Given the description of an element on the screen output the (x, y) to click on. 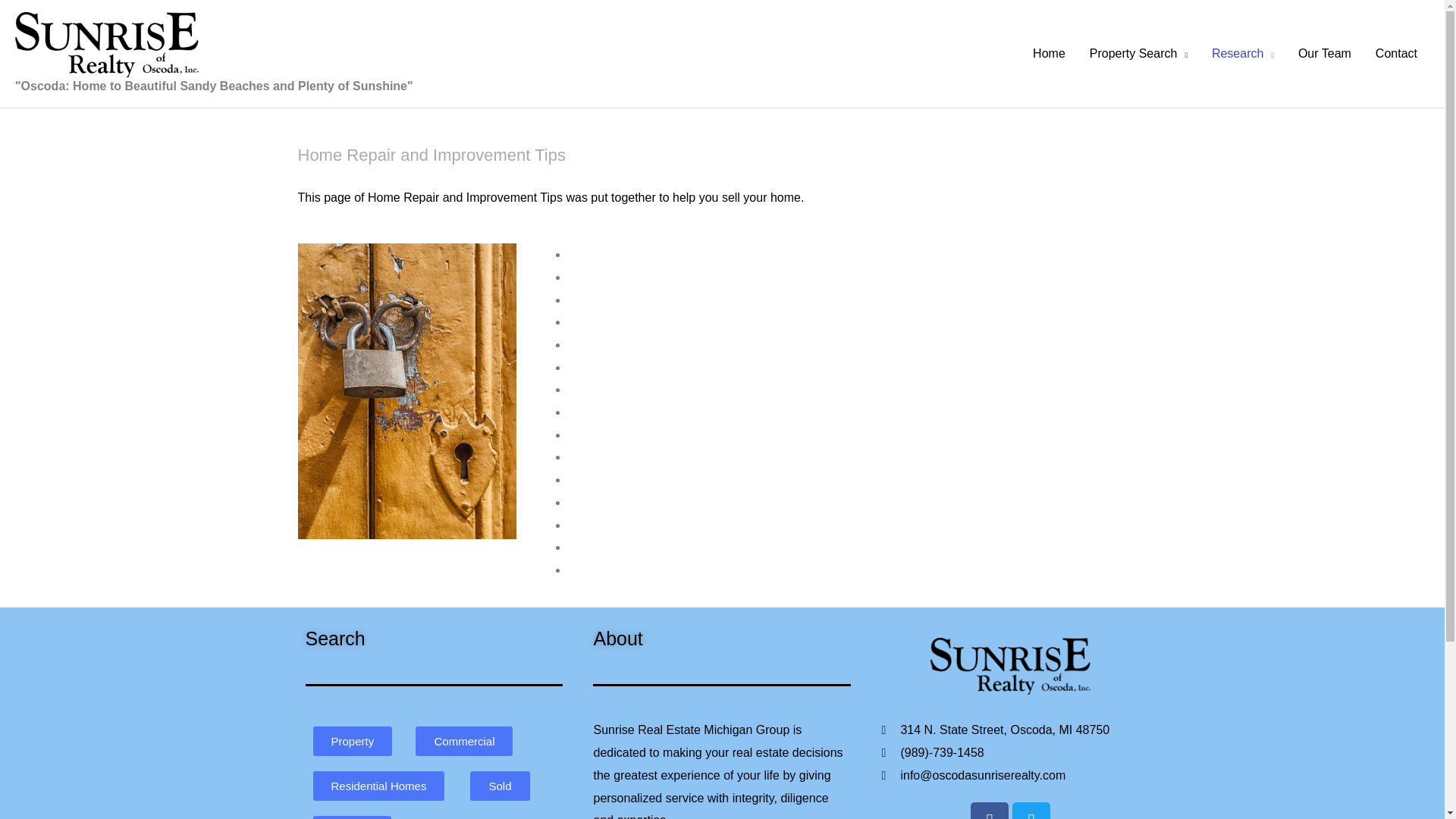
How Energy Efficient Is Your Fireplace? (673, 344)
Protect Your Home From Burglary (658, 277)
Prepare For Plumbing Emergencies Now (678, 479)
Thinking About Home Improvements? (669, 254)
Property (352, 740)
Research (1242, 53)
Home (1048, 53)
Fans Help Beat The Summer Heat (660, 299)
Our Team (1323, 53)
Property Search (1138, 53)
Weatherproof Your Home For Winter (665, 569)
Mortgage Survey Shows Importance Of FHA Financing (715, 321)
Contact (1395, 53)
The Added Security Of A Neighborhood Watch Group (710, 546)
